Given the description of an element on the screen output the (x, y) to click on. 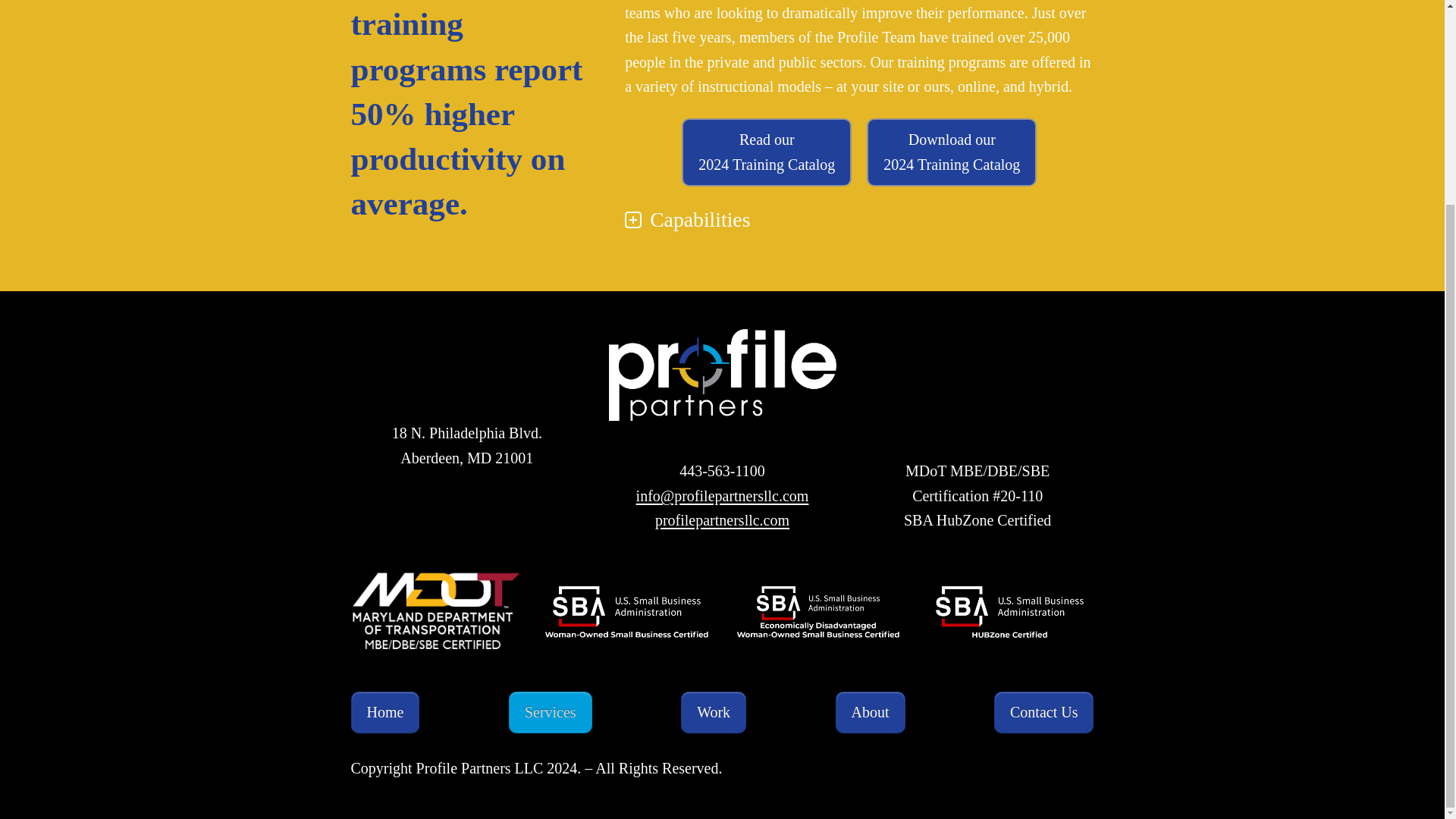
Home (384, 712)
profilepartnersllc.com (722, 519)
Services (550, 712)
Contact Us (1043, 712)
Work (766, 151)
About (951, 151)
